Given the description of an element on the screen output the (x, y) to click on. 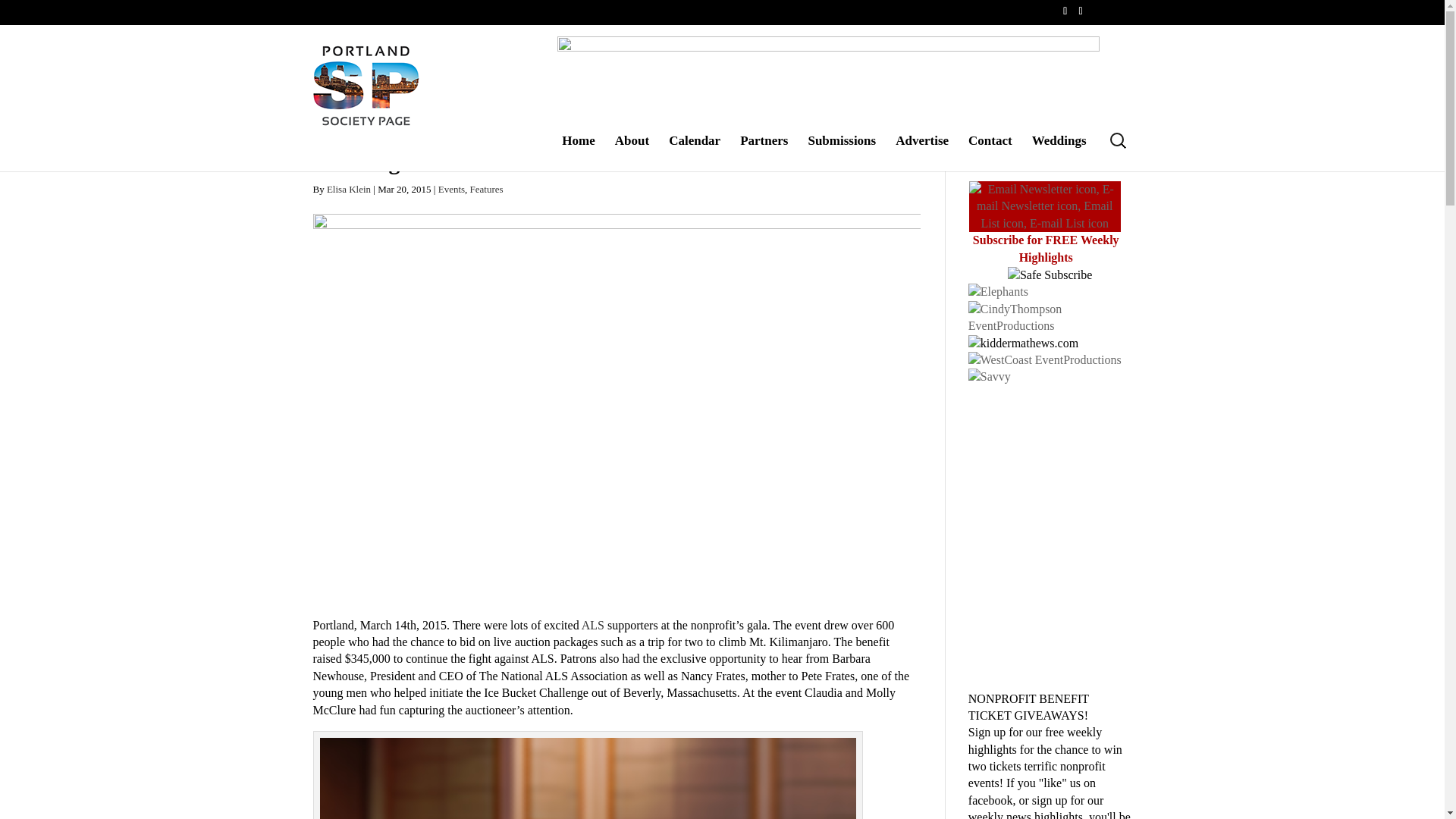
Calendar (694, 152)
Partners (763, 152)
Submissions (842, 152)
Home (578, 152)
Search (19, 8)
ALS (593, 625)
Posts by Elisa Klein (348, 188)
Subscribe for FREE Weekly Highlights (1045, 247)
Advertise (922, 152)
Features (486, 188)
